Given the description of an element on the screen output the (x, y) to click on. 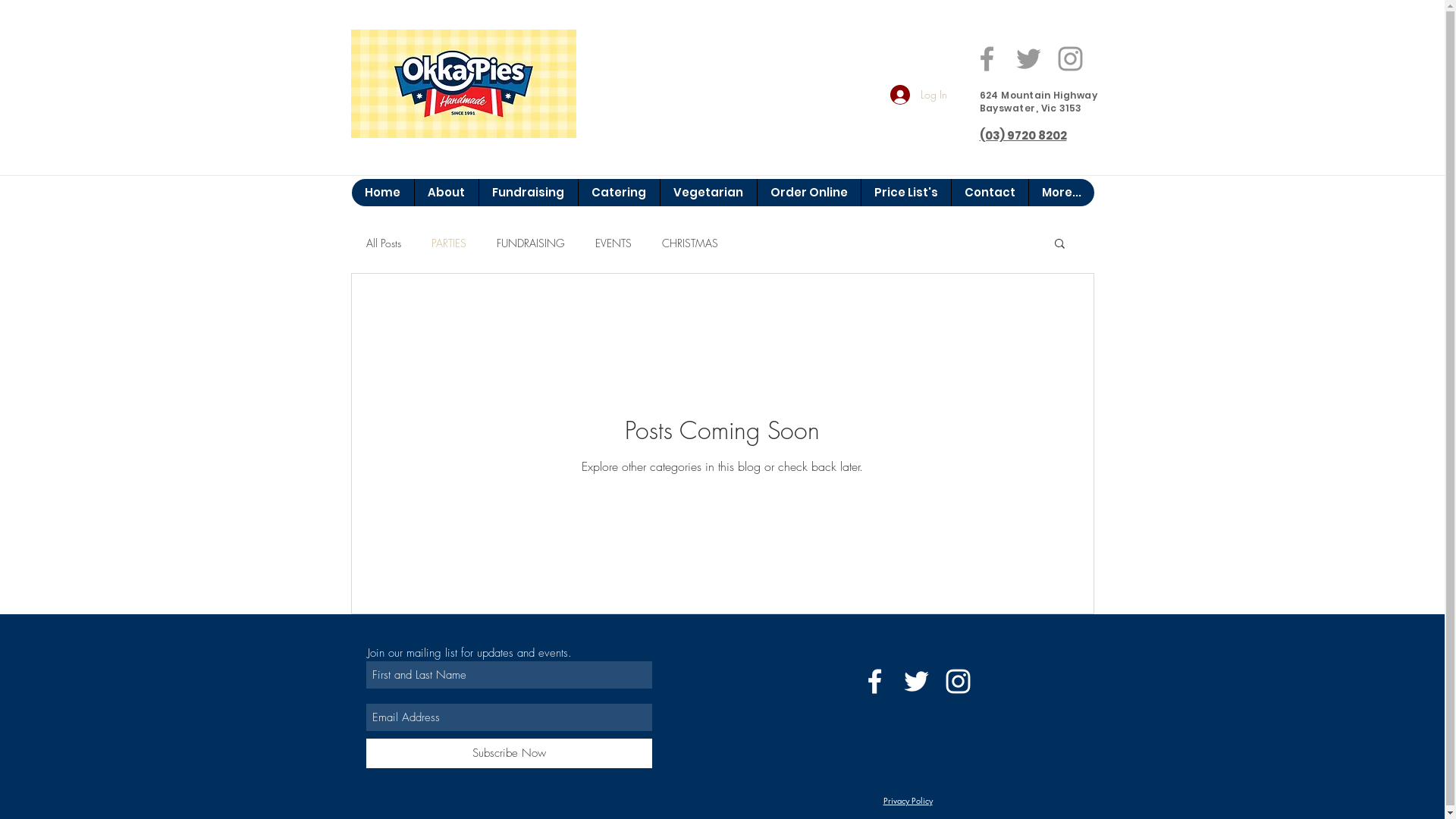
FUNDRAISING Element type: text (529, 242)
(03) 9720 8202 Element type: text (1022, 135)
Subscribe Now Element type: text (508, 753)
EVENTS Element type: text (612, 242)
Privacy Policy Element type: text (906, 800)
Home Element type: text (382, 192)
Price List's Element type: text (904, 192)
Catering Element type: text (618, 192)
All Posts Element type: text (382, 242)
About Element type: text (446, 192)
CHRISTMAS Element type: text (689, 242)
Vegetarian Element type: text (707, 192)
Order Online Element type: text (808, 192)
Contact Element type: text (989, 192)
Fundraising Element type: text (527, 192)
Log In Element type: text (918, 94)
PARTIES Element type: text (447, 242)
